Given the description of an element on the screen output the (x, y) to click on. 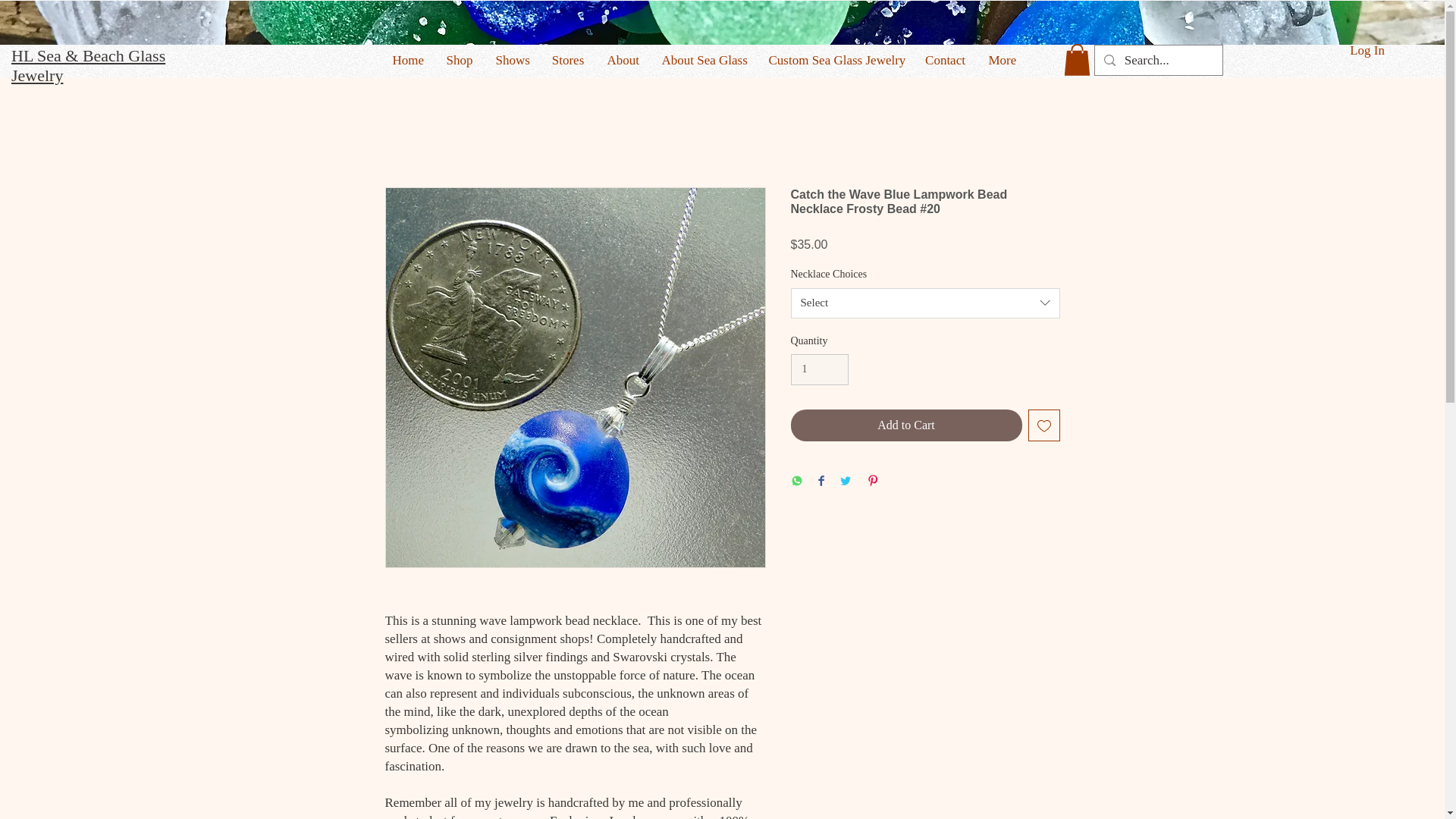
Custom Sea Glass Jewelry (834, 60)
Log In (1366, 50)
1 (818, 368)
Contact (944, 60)
About Sea Glass (703, 60)
Shows (511, 60)
About (622, 60)
Stores (567, 60)
Home (406, 60)
Shop (459, 60)
